Given the description of an element on the screen output the (x, y) to click on. 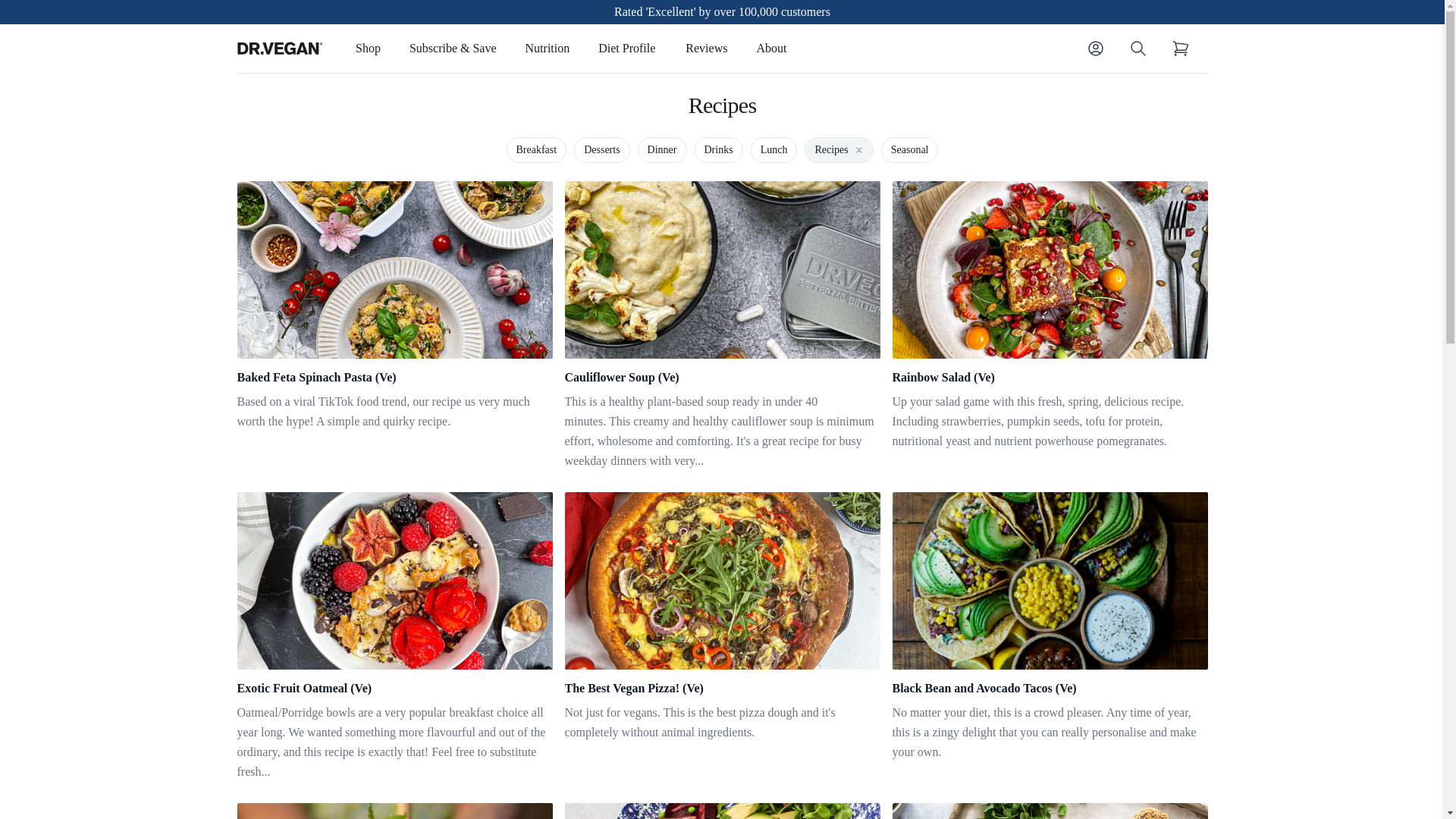
Narrow search to articles also having tag Drinks (717, 150)
Narrow search to articles also having tag Seasonal (909, 150)
Narrow search to articles also having tag Desserts (601, 150)
Narrow search to articles also having tag Breakfast (536, 150)
Narrow search to articles also having tag Lunch (773, 150)
Narrow search to articles also having tag Dinner (662, 150)
